Given the description of an element on the screen output the (x, y) to click on. 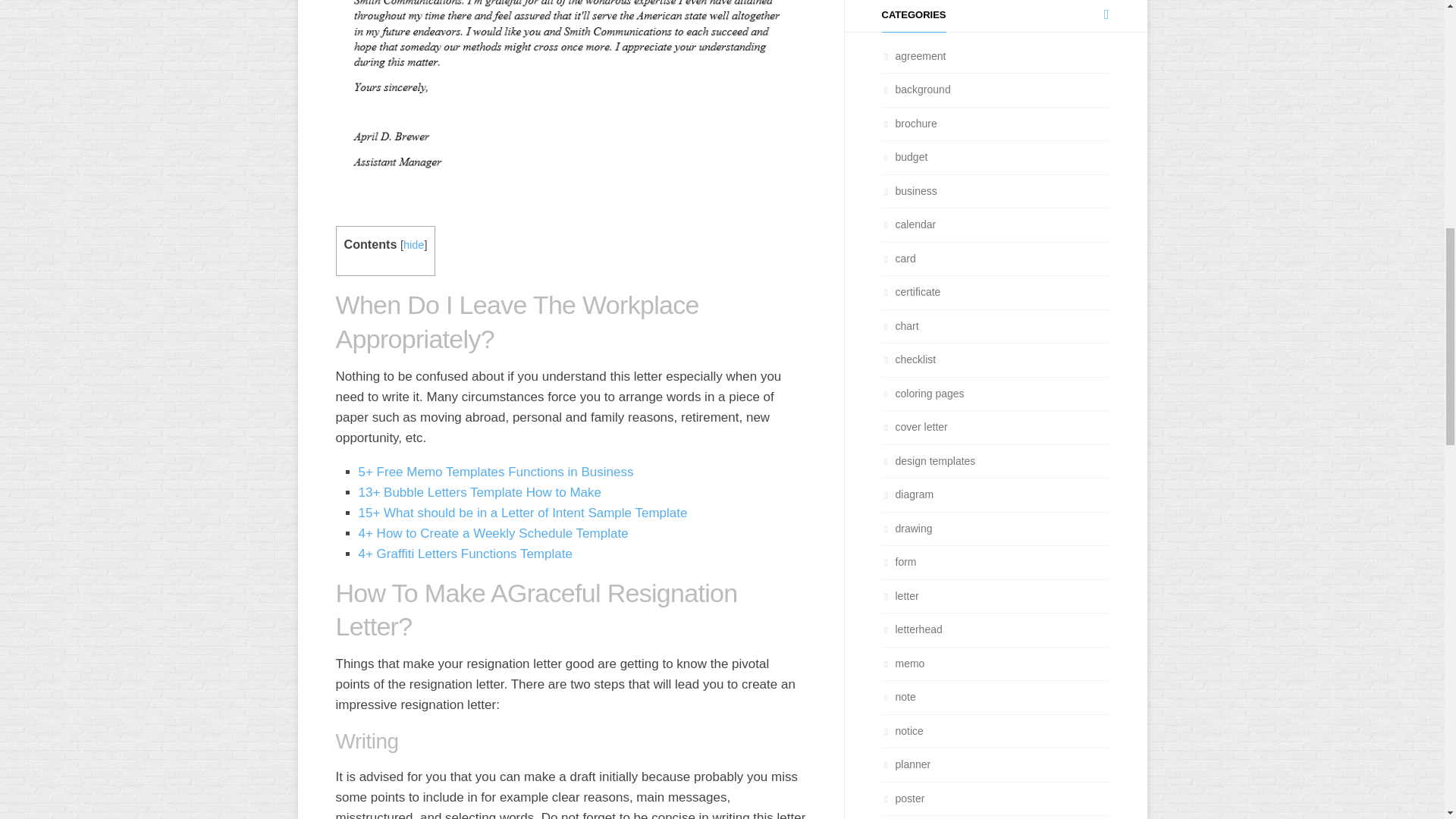
business (908, 191)
agreement (912, 55)
calendar (908, 224)
checklist (908, 358)
drawing (905, 527)
form (897, 562)
chart (899, 326)
diagram (906, 494)
cover letter (913, 426)
letter (899, 595)
certificate (910, 291)
brochure (908, 122)
background (915, 89)
coloring pages (921, 392)
card (897, 257)
